Given the description of an element on the screen output the (x, y) to click on. 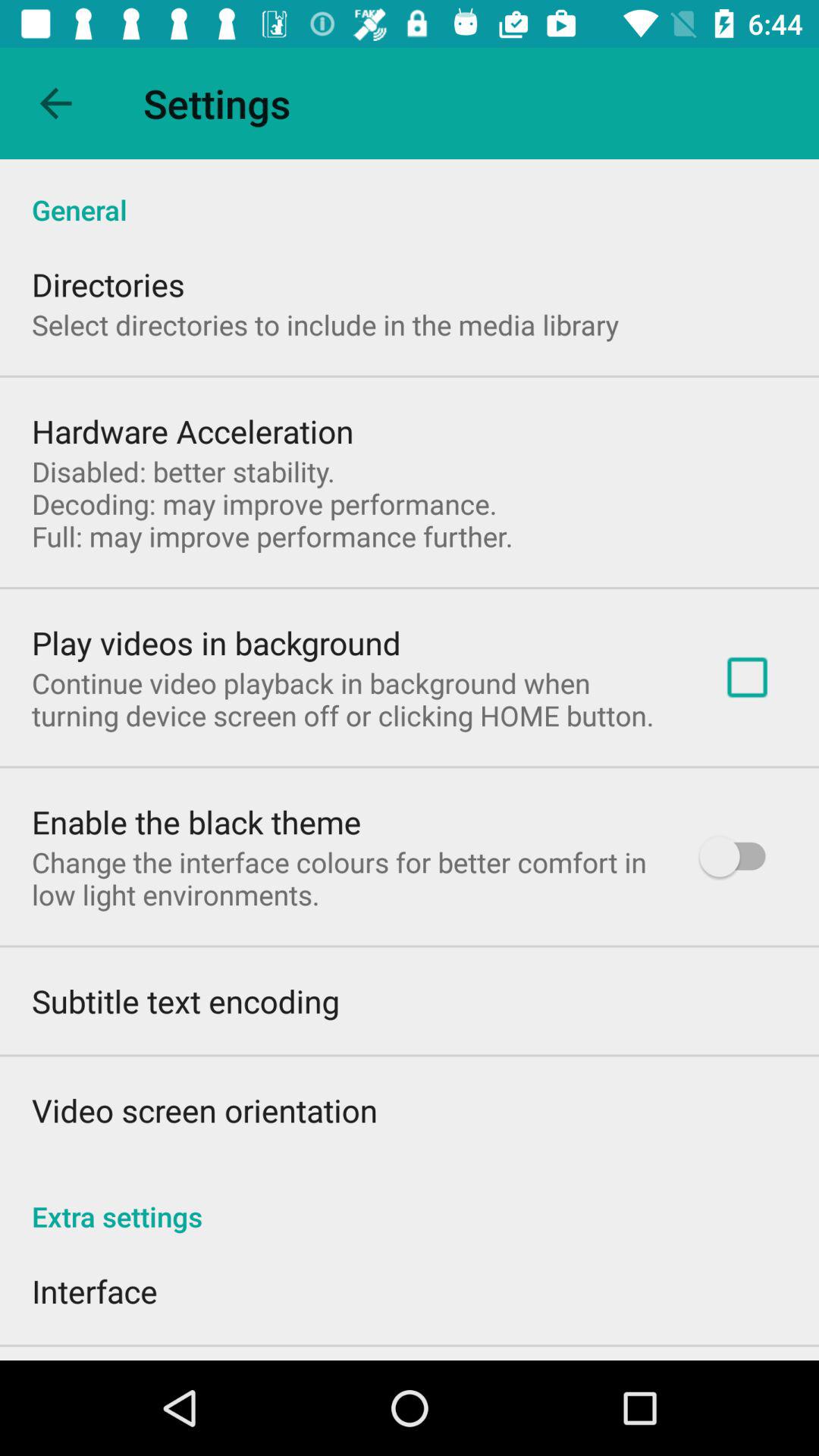
choose continue video playback (353, 699)
